Given the description of an element on the screen output the (x, y) to click on. 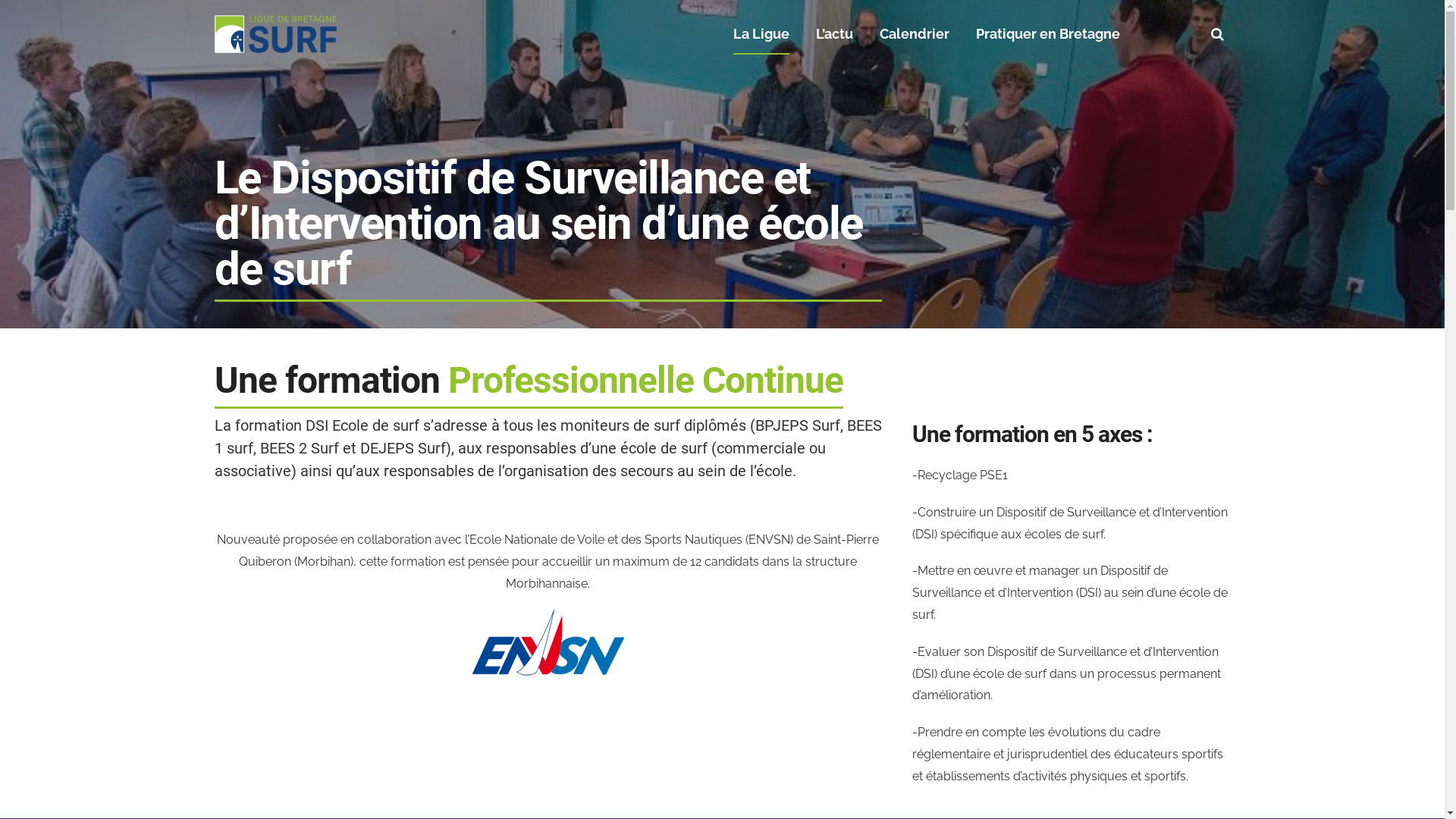
Calendrier Element type: text (914, 34)
Pratiquer en Bretagne Element type: text (1047, 34)
La Ligue Element type: text (761, 34)
